Given the description of an element on the screen output the (x, y) to click on. 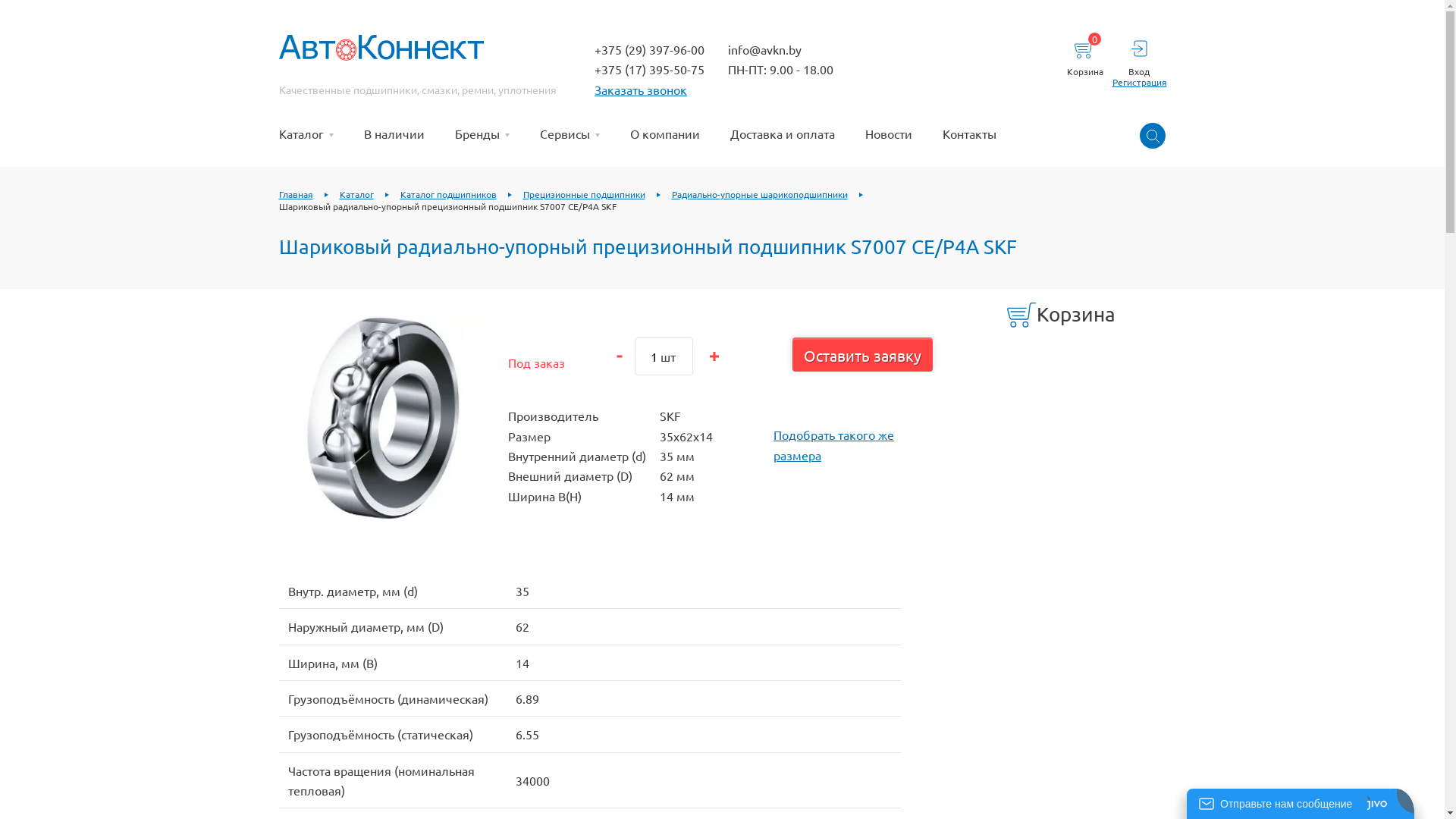
info@avkn.by Element type: text (764, 48)
+375 (17) 395-50-75 Element type: text (649, 68)
+375 (29) 397-96-00 Element type: text (649, 49)
